Given the description of an element on the screen output the (x, y) to click on. 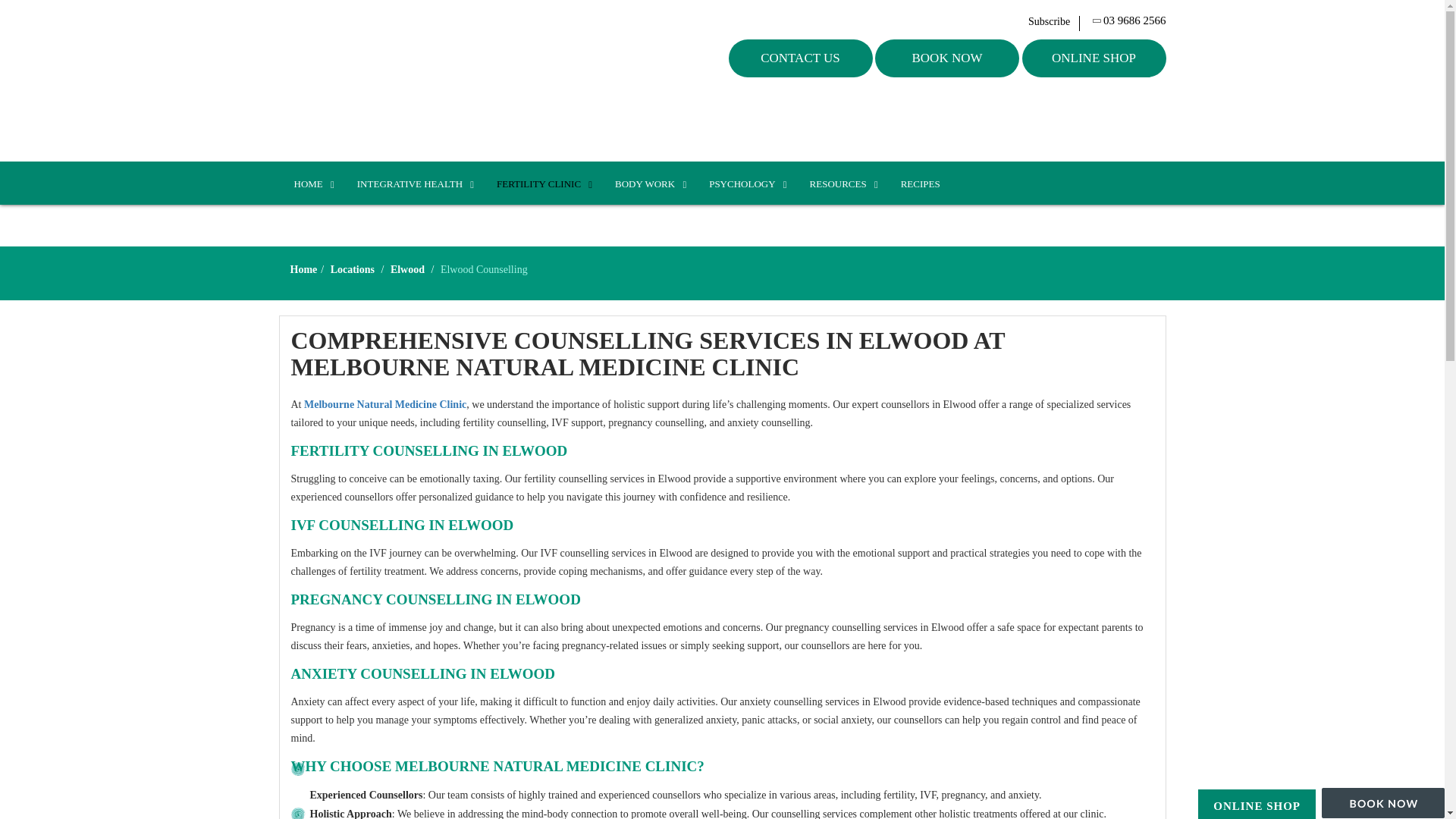
Online Shop (1094, 57)
CONTACT US (800, 57)
Online Shop (1256, 806)
Natural Medicine Dispensary (379, 79)
ONLINE SHOP (1094, 57)
BODY WORK (646, 183)
Subscribe (1053, 21)
Contact Us (800, 57)
HOME (310, 183)
